Given the description of an element on the screen output the (x, y) to click on. 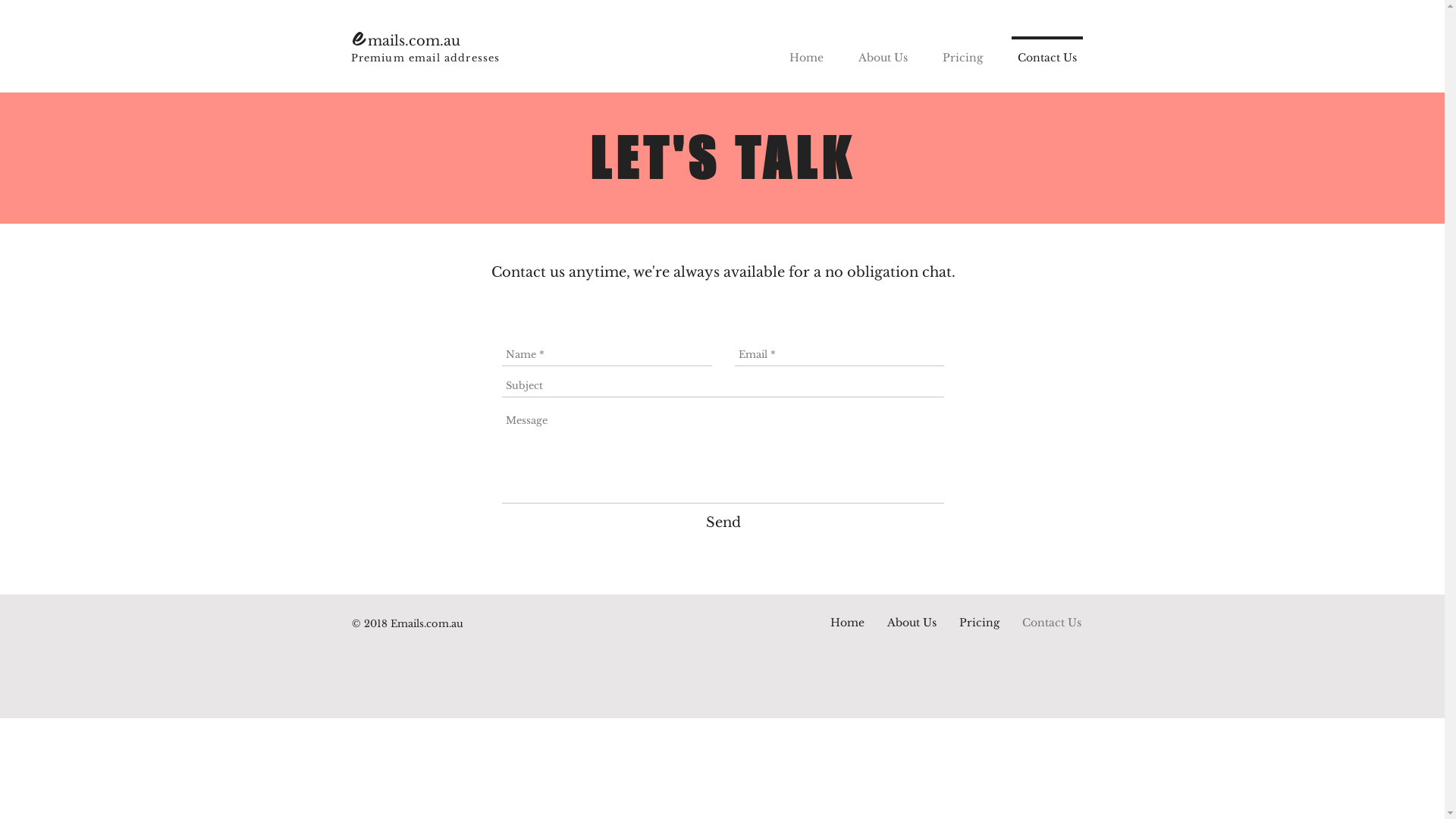
Premium email addresses Element type: text (424, 57)
mails.com.au Element type: text (413, 40)
Pricing Element type: text (978, 622)
Home Element type: text (847, 622)
Send Element type: text (722, 522)
e Element type: text (359, 34)
About Us Element type: text (882, 50)
Contact Us Element type: text (1051, 622)
About Us Element type: text (911, 622)
Home Element type: text (805, 50)
Contact Us Element type: text (1046, 50)
Pricing Element type: text (962, 50)
